Given the description of an element on the screen output the (x, y) to click on. 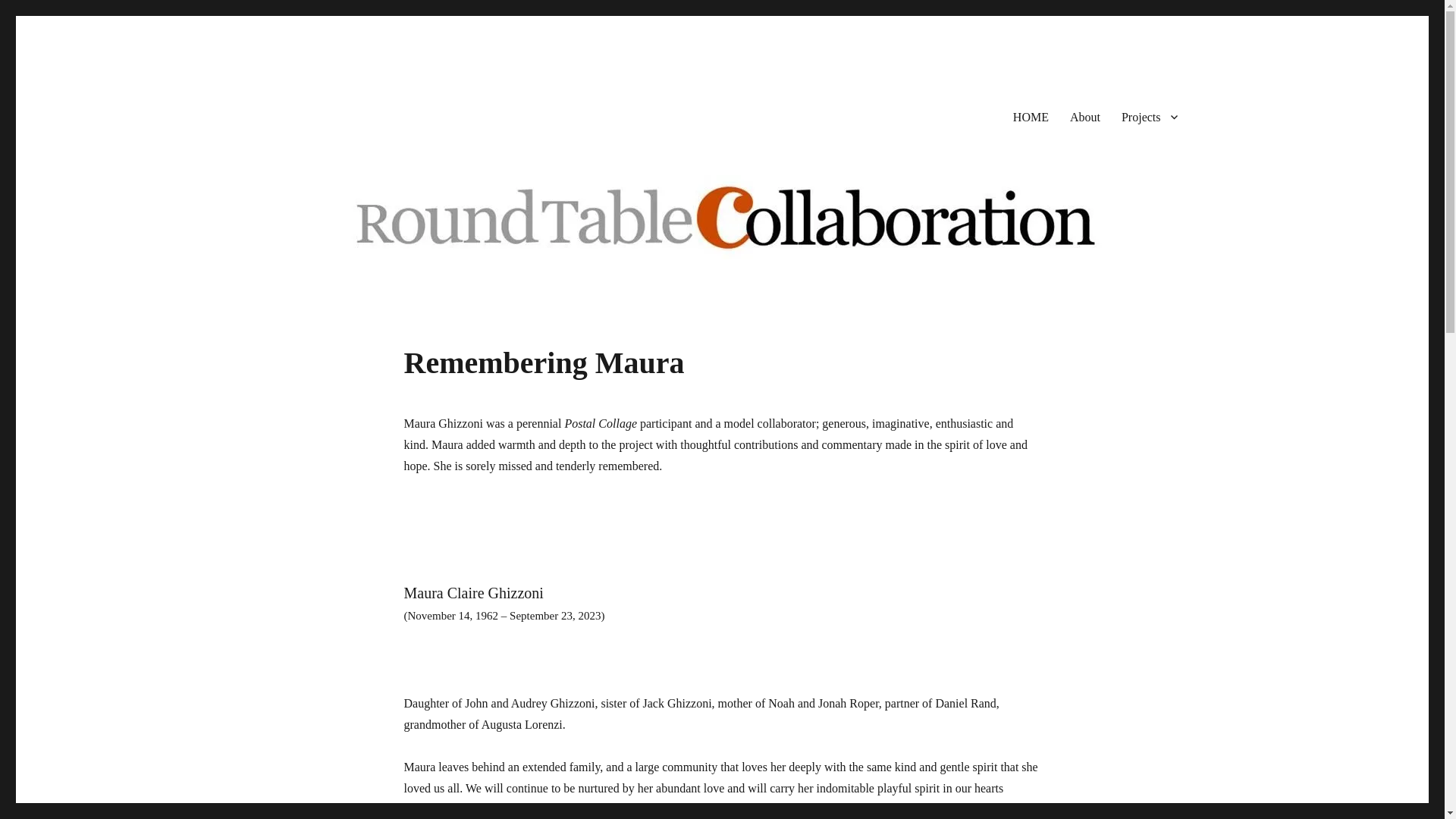
About (1084, 116)
Projects (1149, 116)
HOME (1031, 116)
Round Table Collaboration (381, 114)
